Given the description of an element on the screen output the (x, y) to click on. 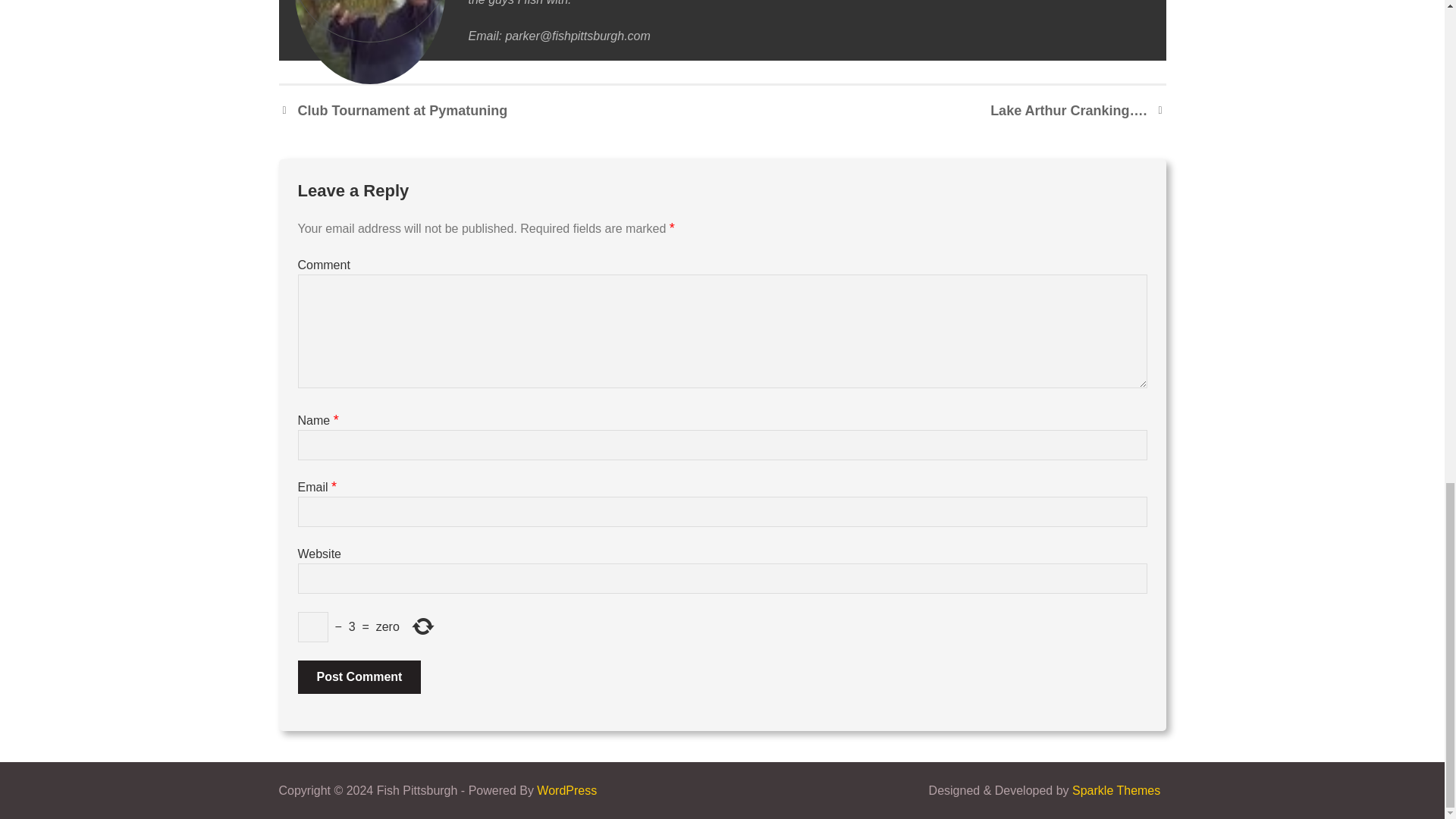
Post Comment (358, 676)
